Given the description of an element on the screen output the (x, y) to click on. 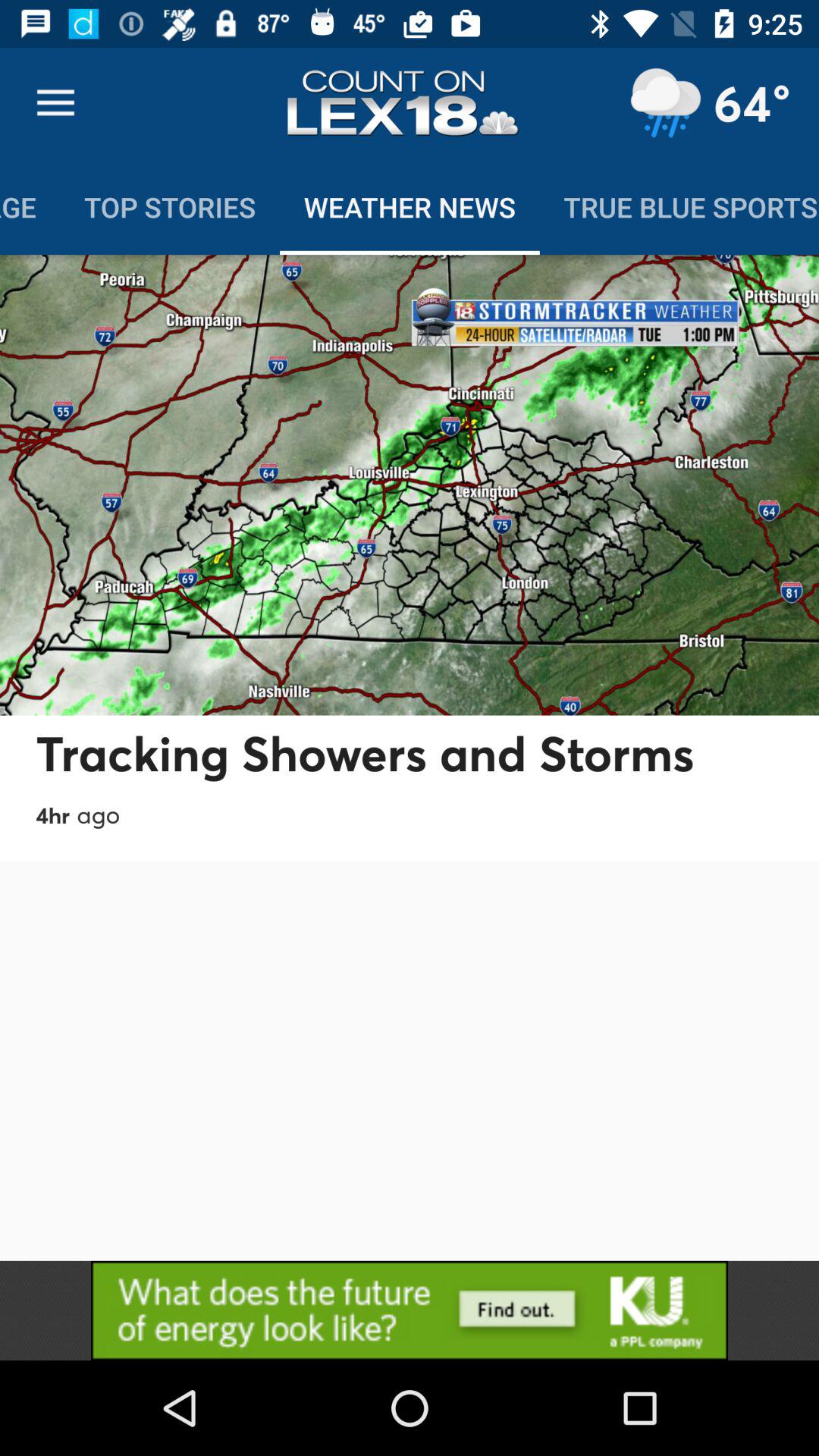
go to advertisement 's website (409, 1310)
